Given the description of an element on the screen output the (x, y) to click on. 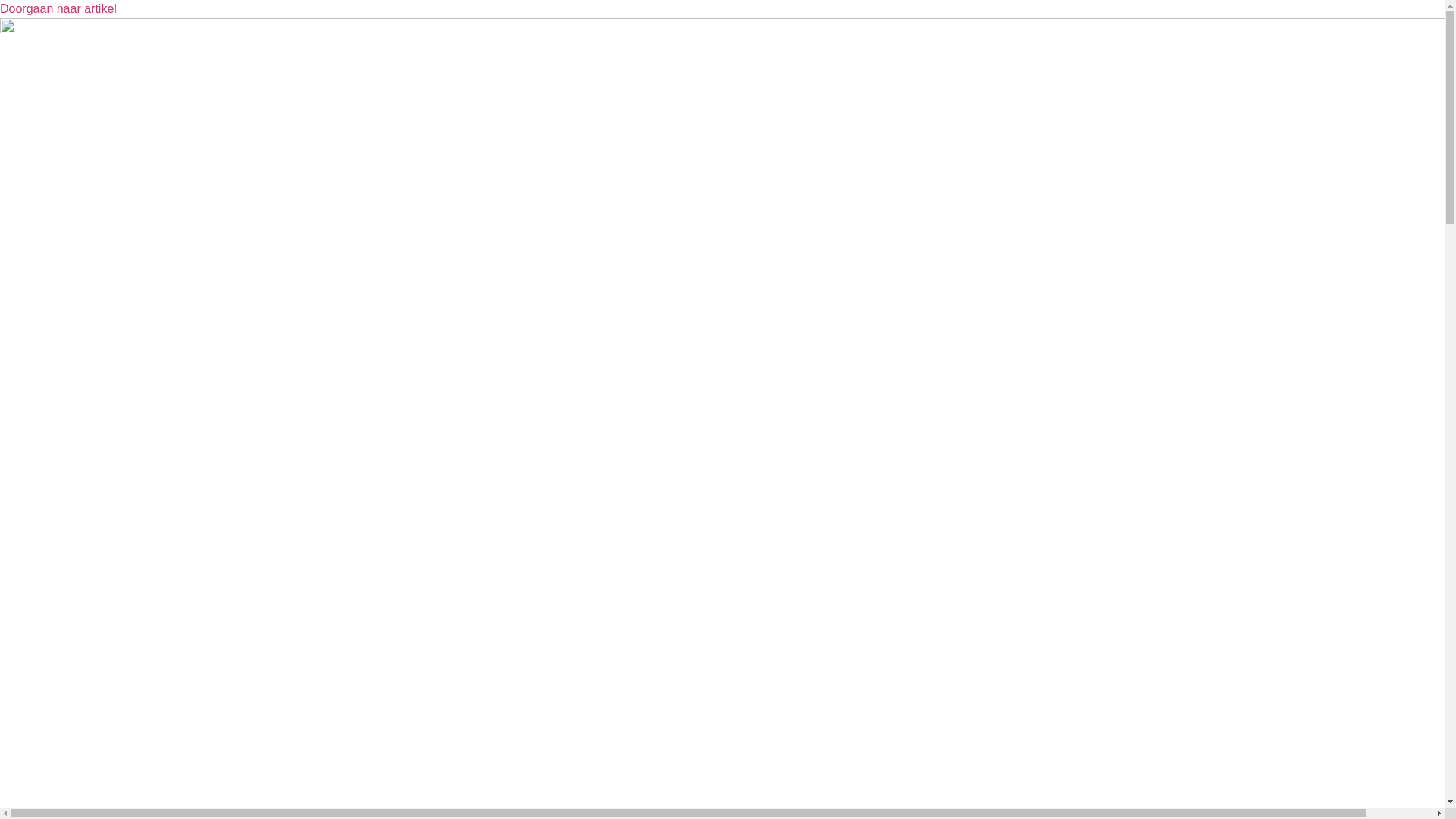
Doorgaan naar artikel Element type: text (58, 8)
